Given the description of an element on the screen output the (x, y) to click on. 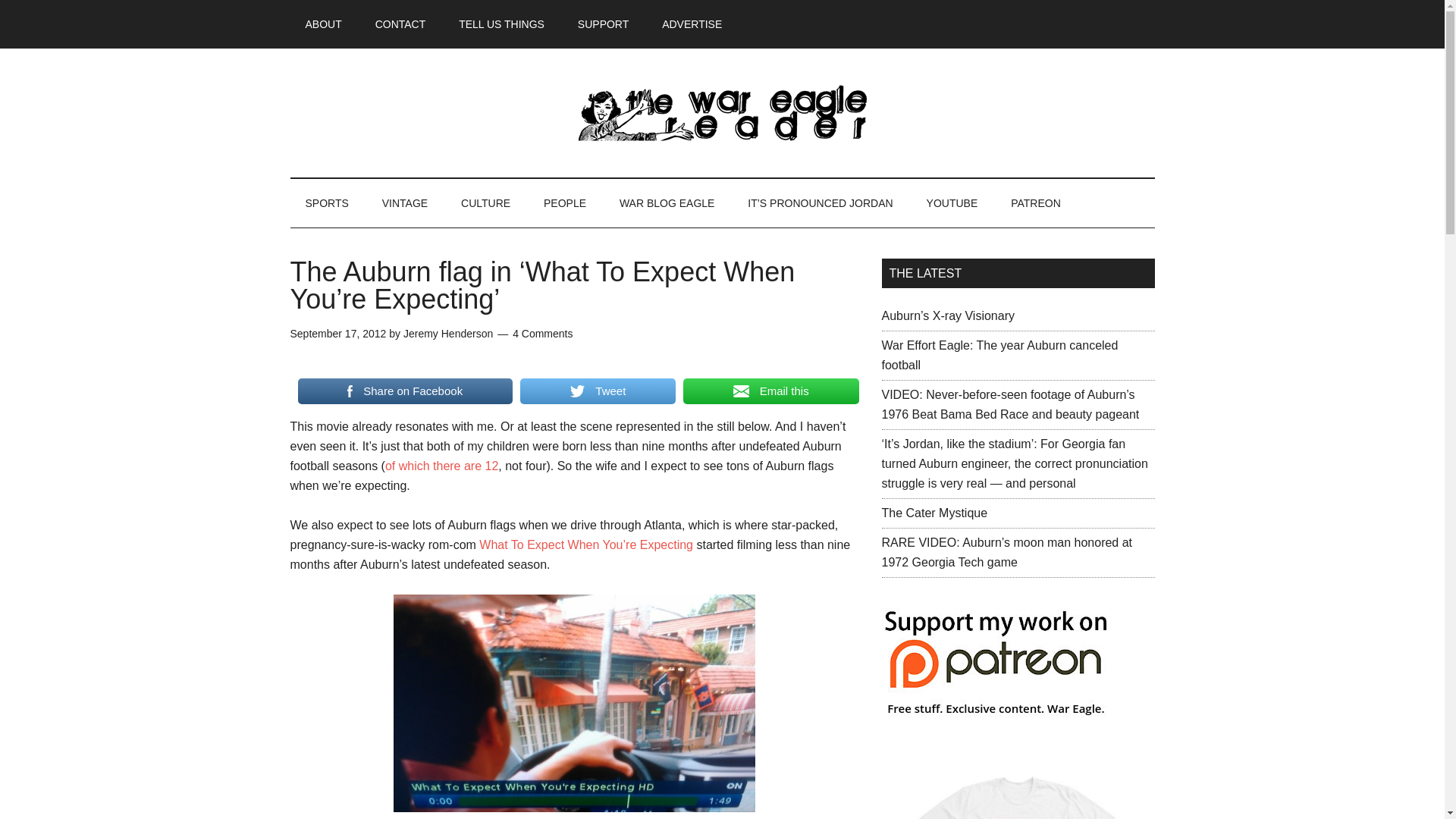
The War Eagle Reader (721, 112)
Email this (770, 390)
WAR BLOG EAGLE (667, 203)
SPORTS (325, 203)
ABOUT (322, 24)
Share on Facebook (404, 390)
ADVERTISE (691, 24)
VINTAGE (404, 203)
YOUTUBE (951, 203)
CULTURE (485, 203)
